Given the description of an element on the screen output the (x, y) to click on. 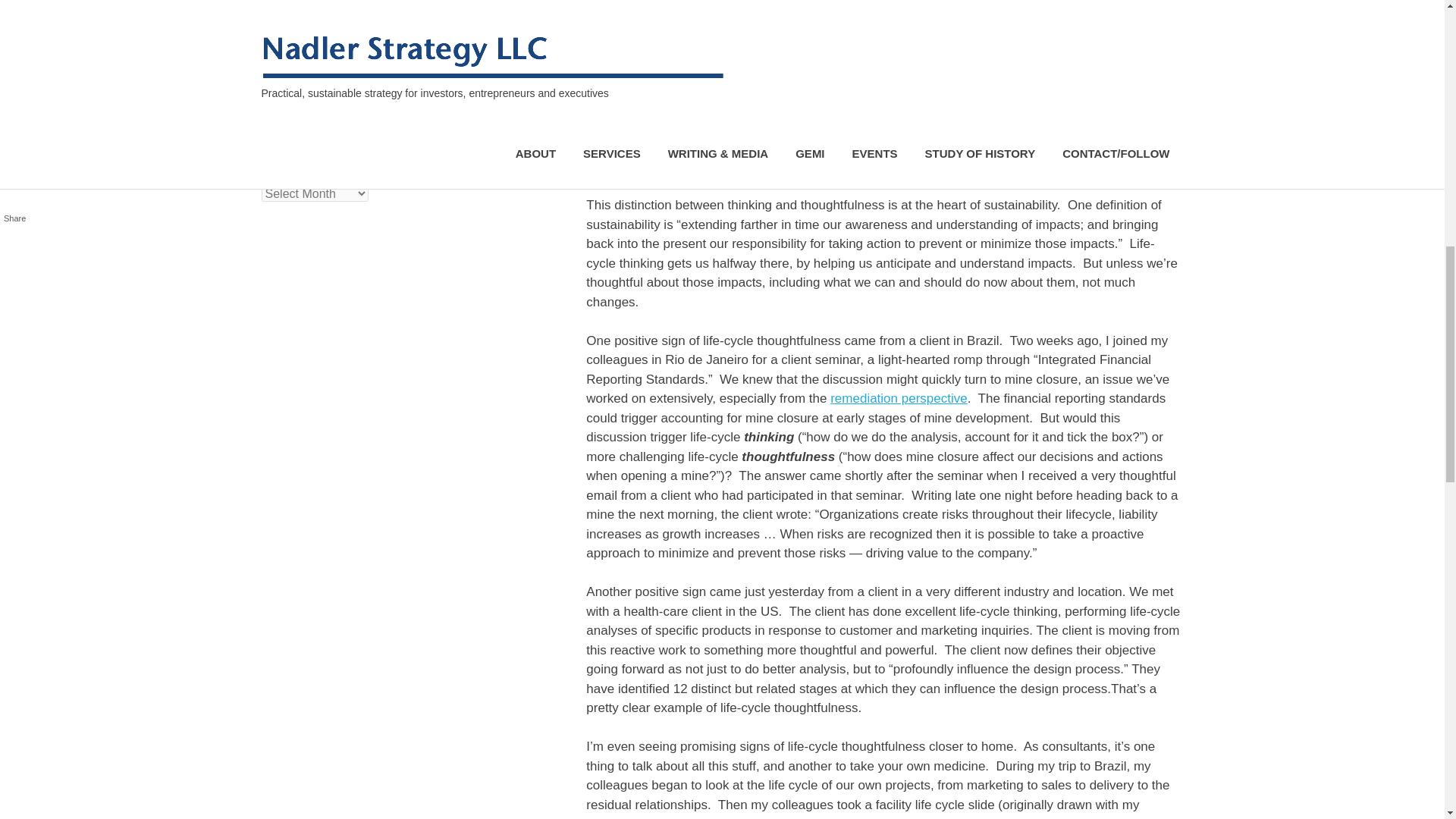
remediation perspective (897, 398)
